Given the description of an element on the screen output the (x, y) to click on. 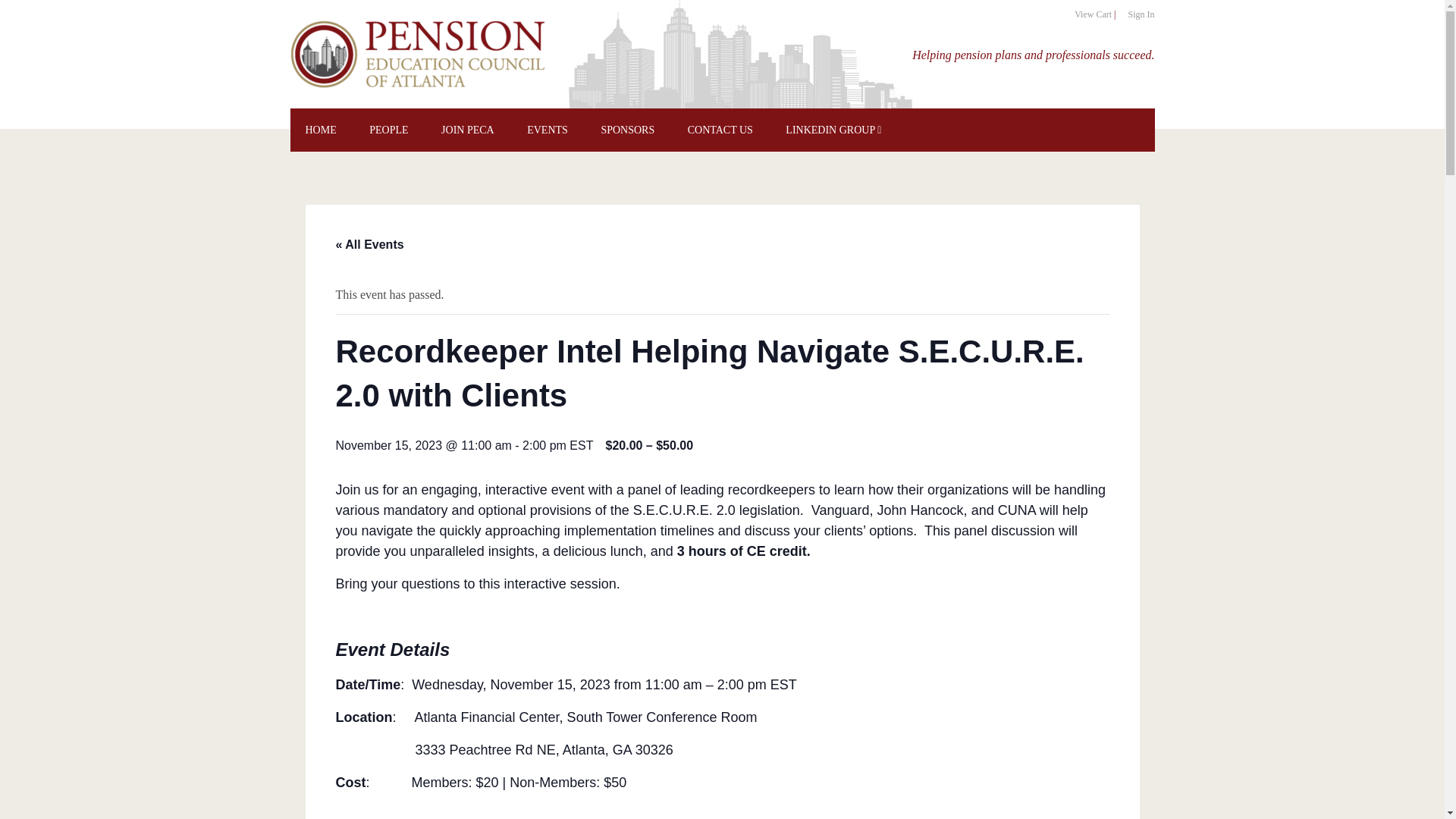
JOIN PECA (467, 129)
SPONSORS (627, 129)
CONTACT US (720, 129)
HOME (319, 129)
PENSION EDUCATION COUNCIL OF ATLANTA (418, 52)
PEOPLE (388, 129)
Sign In (1140, 14)
LINKEDIN GROUP (833, 129)
EVENTS (547, 129)
View Cart (1093, 14)
